Given the description of an element on the screen output the (x, y) to click on. 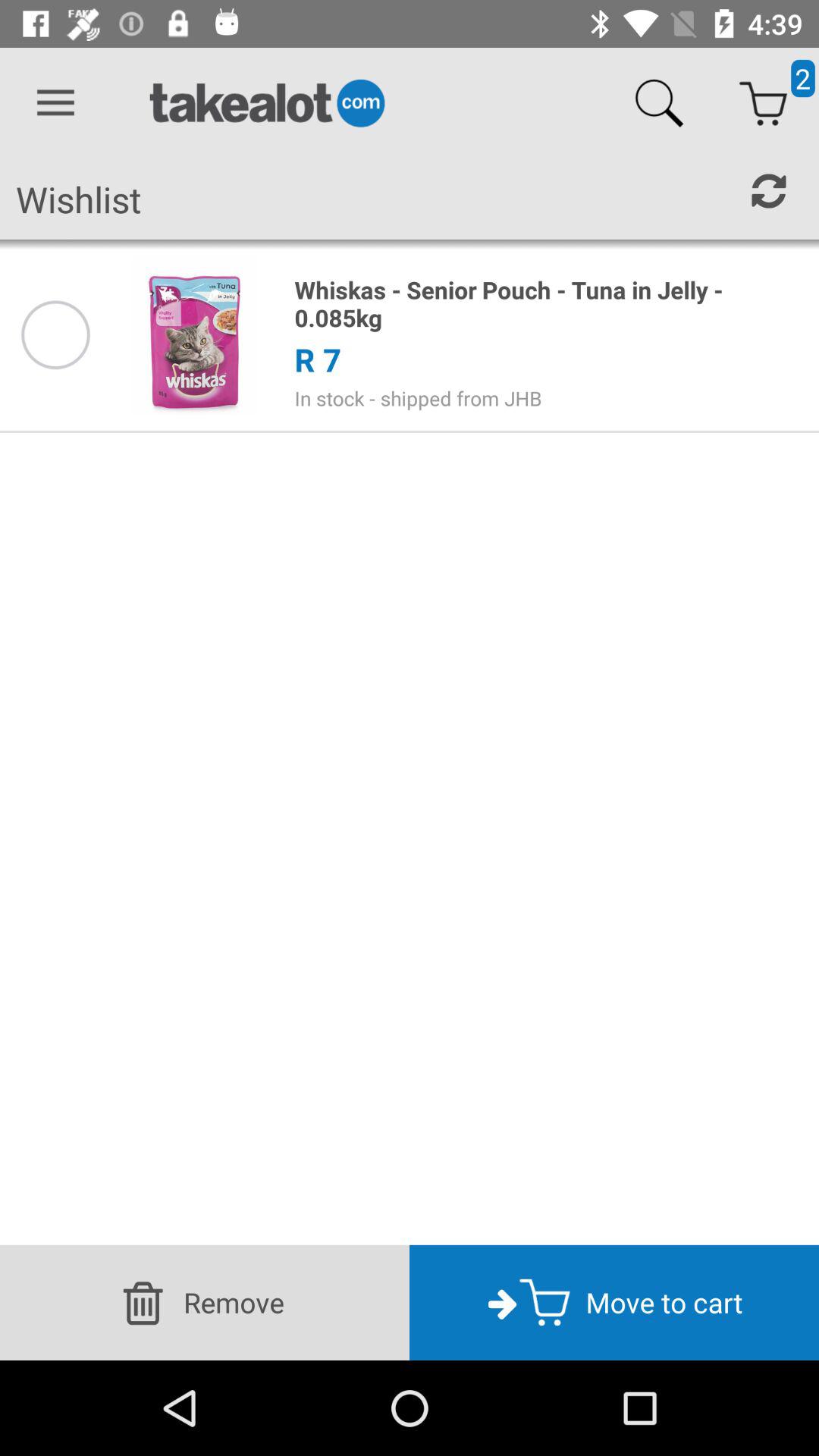
select product on wishlist (55, 334)
